Given the description of an element on the screen output the (x, y) to click on. 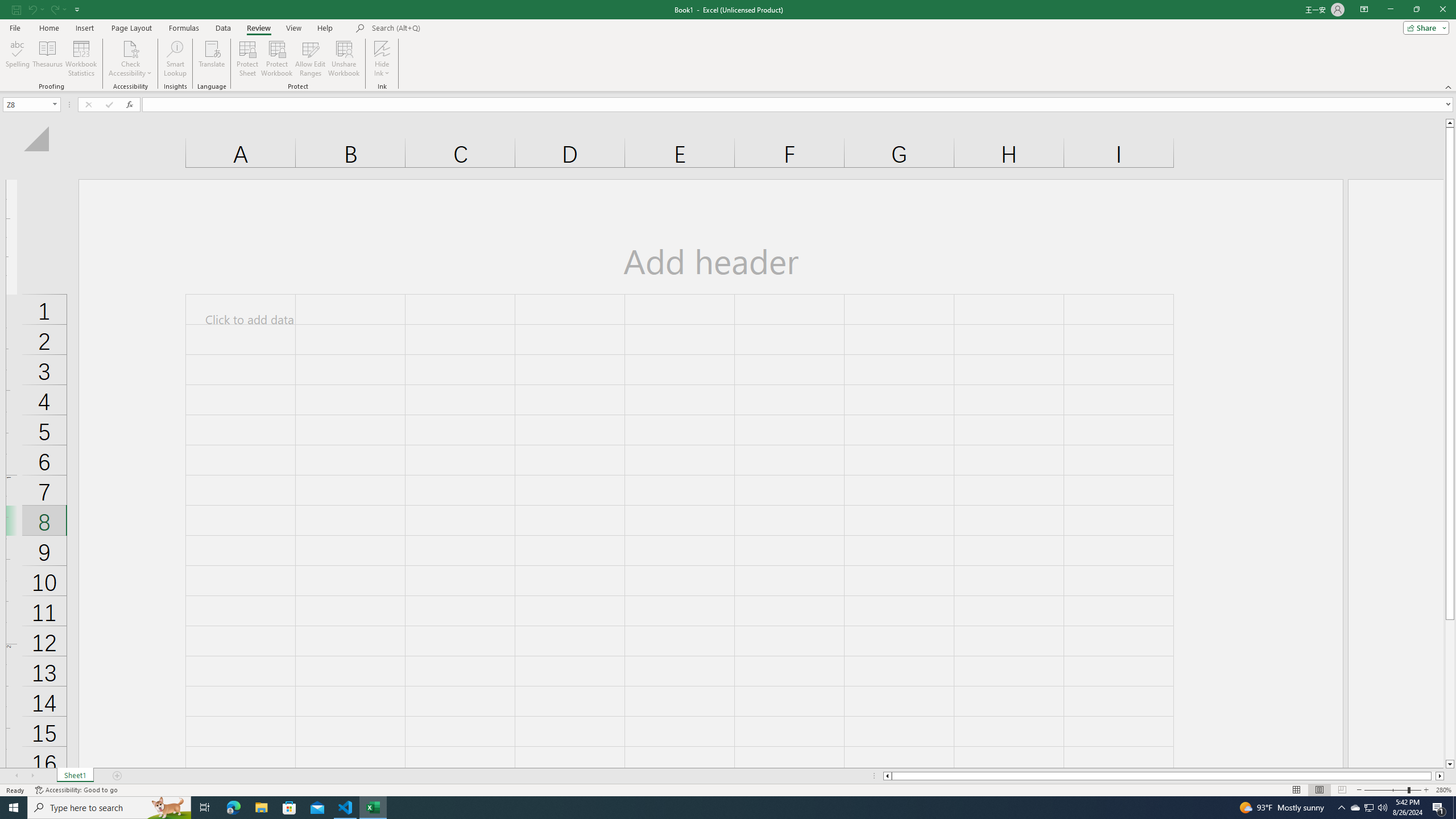
Check Accessibility (129, 58)
Hide Ink (381, 58)
Microsoft search (450, 28)
Formula Bar (798, 104)
Unshare Workbook (344, 58)
Workbook Statistics (81, 58)
